Given the description of an element on the screen output the (x, y) to click on. 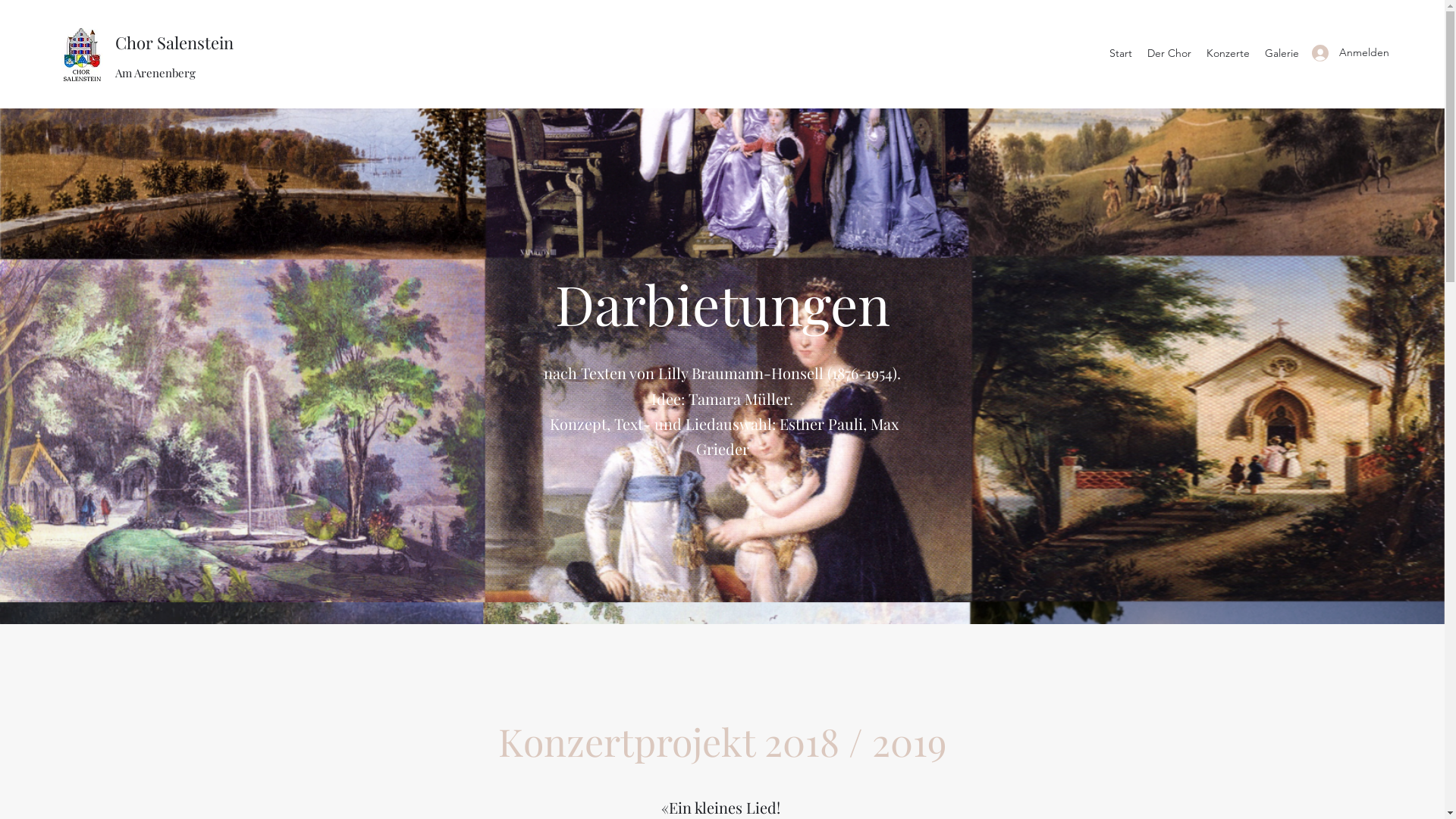
Start Element type: text (1120, 52)
Galerie Element type: text (1281, 52)
Konzerte Element type: text (1227, 52)
Anmelden Element type: text (1343, 52)
Der Chor Element type: text (1168, 52)
Chor Salenstein Element type: text (174, 42)
